Given the description of an element on the screen output the (x, y) to click on. 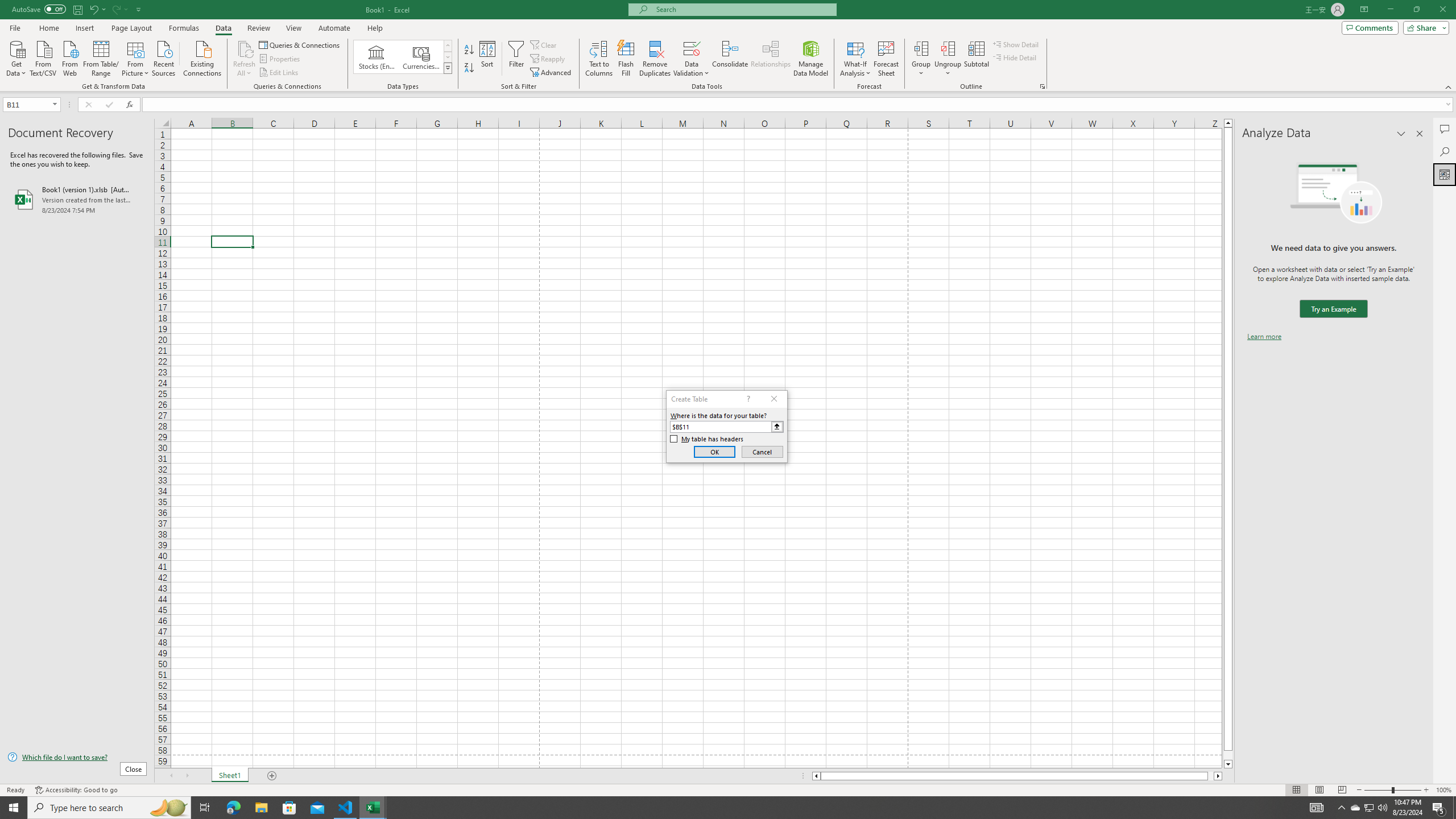
Clear (544, 44)
Redo (119, 9)
Undo (96, 9)
Page Break Preview (1342, 790)
Insert (83, 28)
View (293, 28)
System (6, 6)
Ungroup... (947, 48)
Open (54, 104)
Formula Bar (799, 104)
Restore Down (1416, 9)
Show Detail (1016, 44)
Subtotal (976, 58)
Row Down (448, 56)
Scroll Left (171, 775)
